Given the description of an element on the screen output the (x, y) to click on. 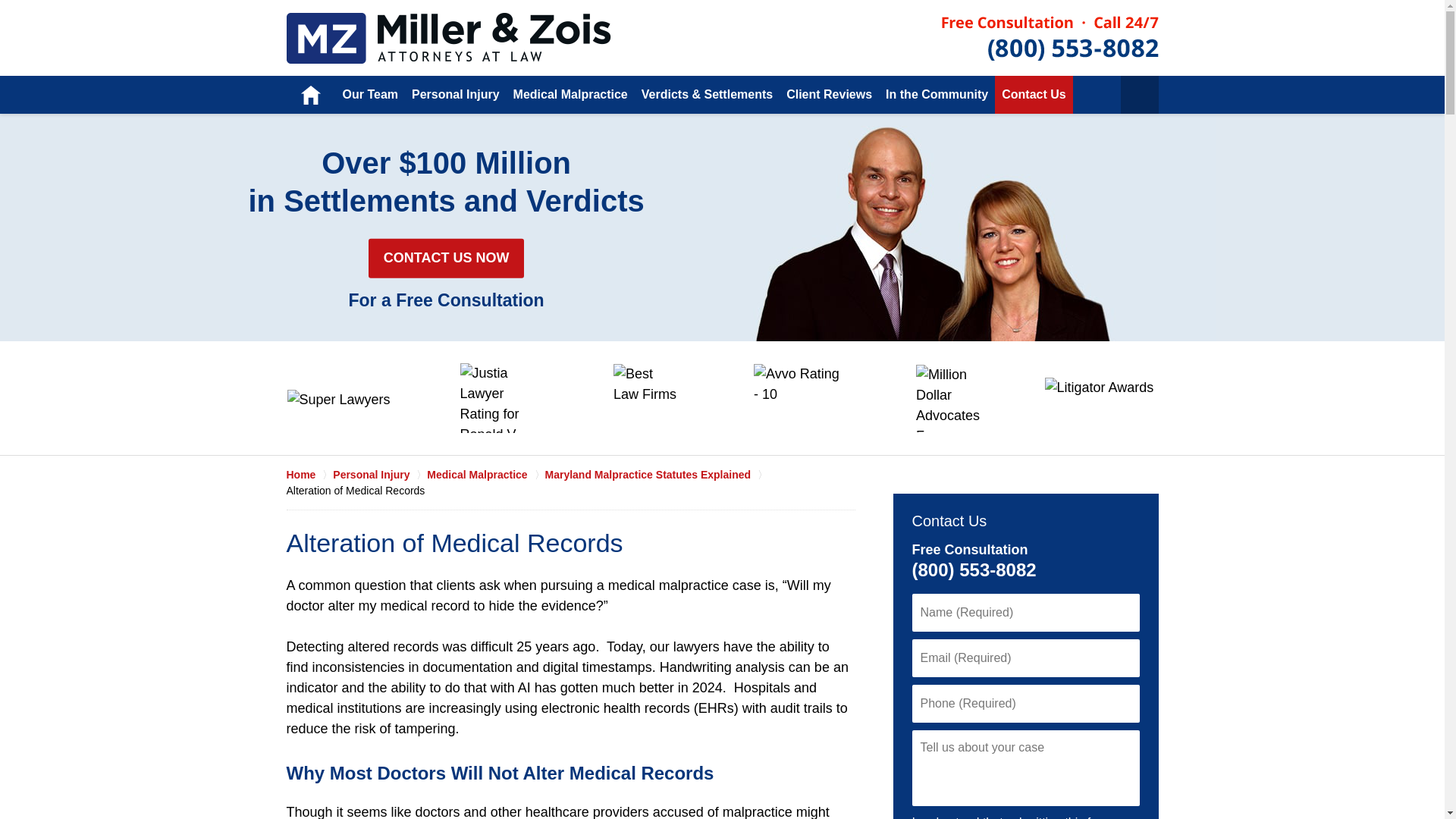
Medical Malpractice (448, 37)
Contact Us (1032, 94)
Medical Malpractice (570, 94)
Client Reviews (828, 94)
In the Community (936, 94)
Personal Injury (455, 94)
Our Team (369, 94)
Home (309, 94)
